Given the description of an element on the screen output the (x, y) to click on. 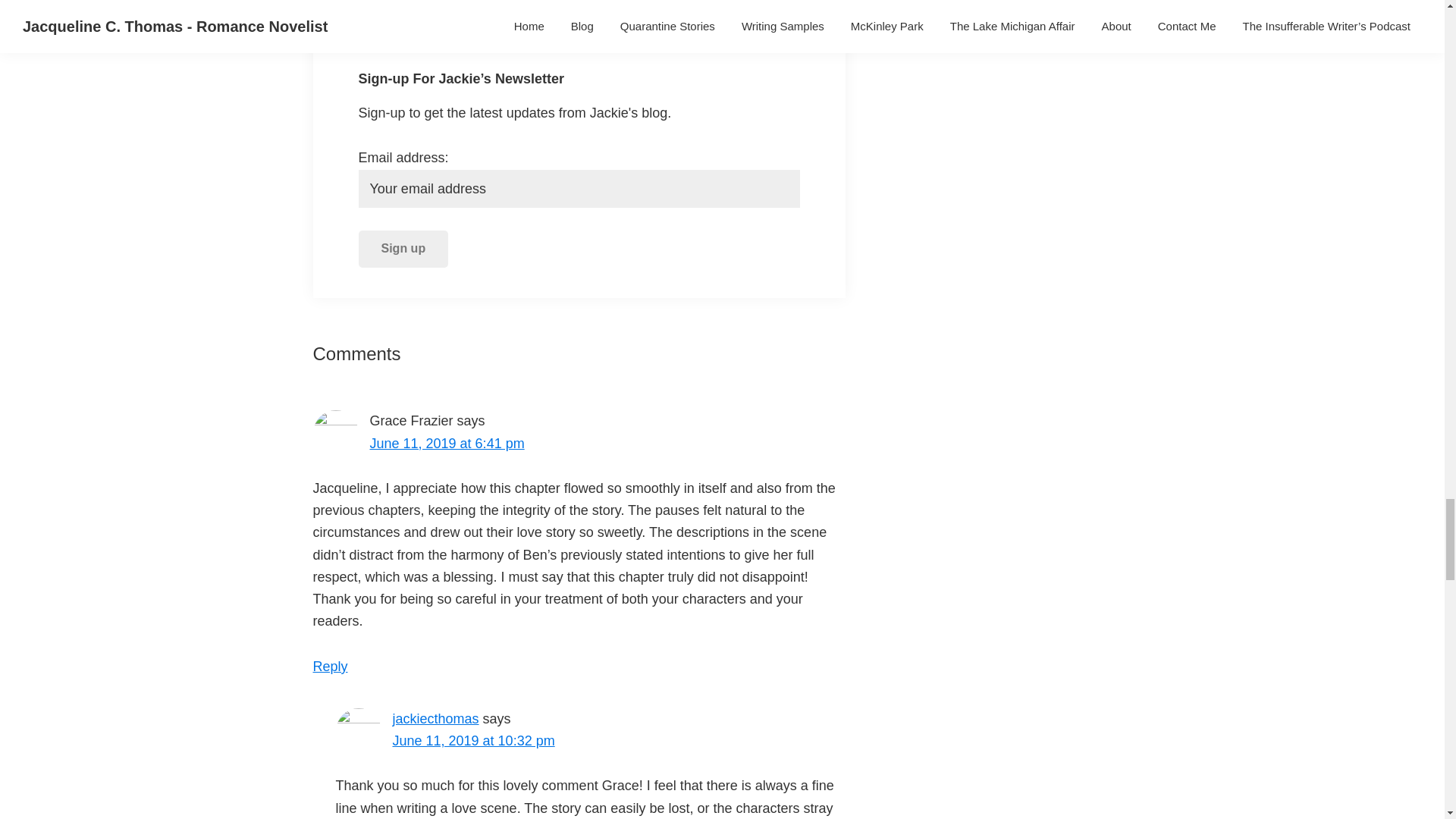
jackiecthomas (436, 718)
June 11, 2019 at 10:32 pm (473, 740)
June 11, 2019 at 6:41 pm (446, 443)
Sign up (403, 248)
Reply (330, 666)
Sign up (403, 248)
